Given the description of an element on the screen output the (x, y) to click on. 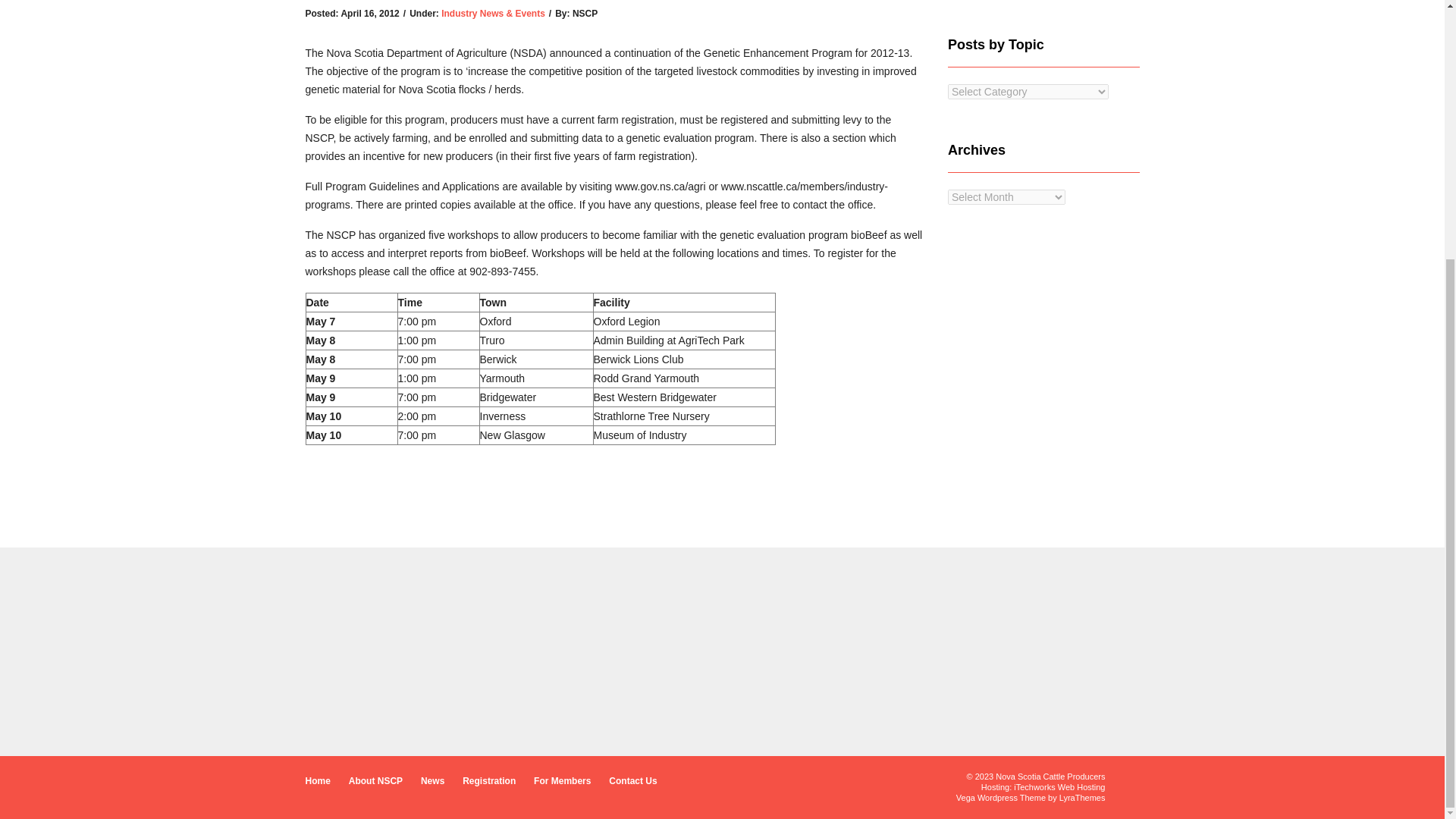
News (432, 781)
Registration (489, 781)
Home (317, 781)
About NSCP (376, 781)
